Given the description of an element on the screen output the (x, y) to click on. 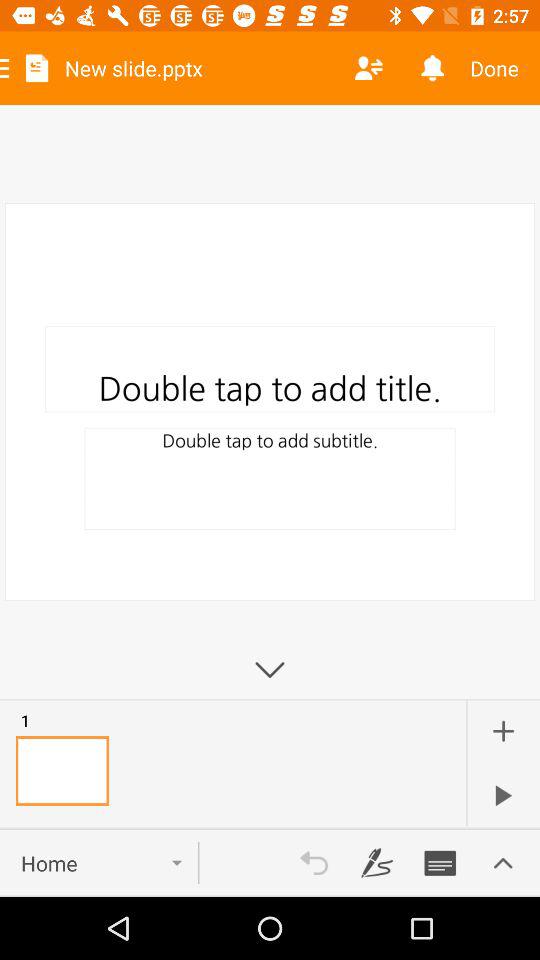
add the image with this icon (503, 731)
